Given the description of an element on the screen output the (x, y) to click on. 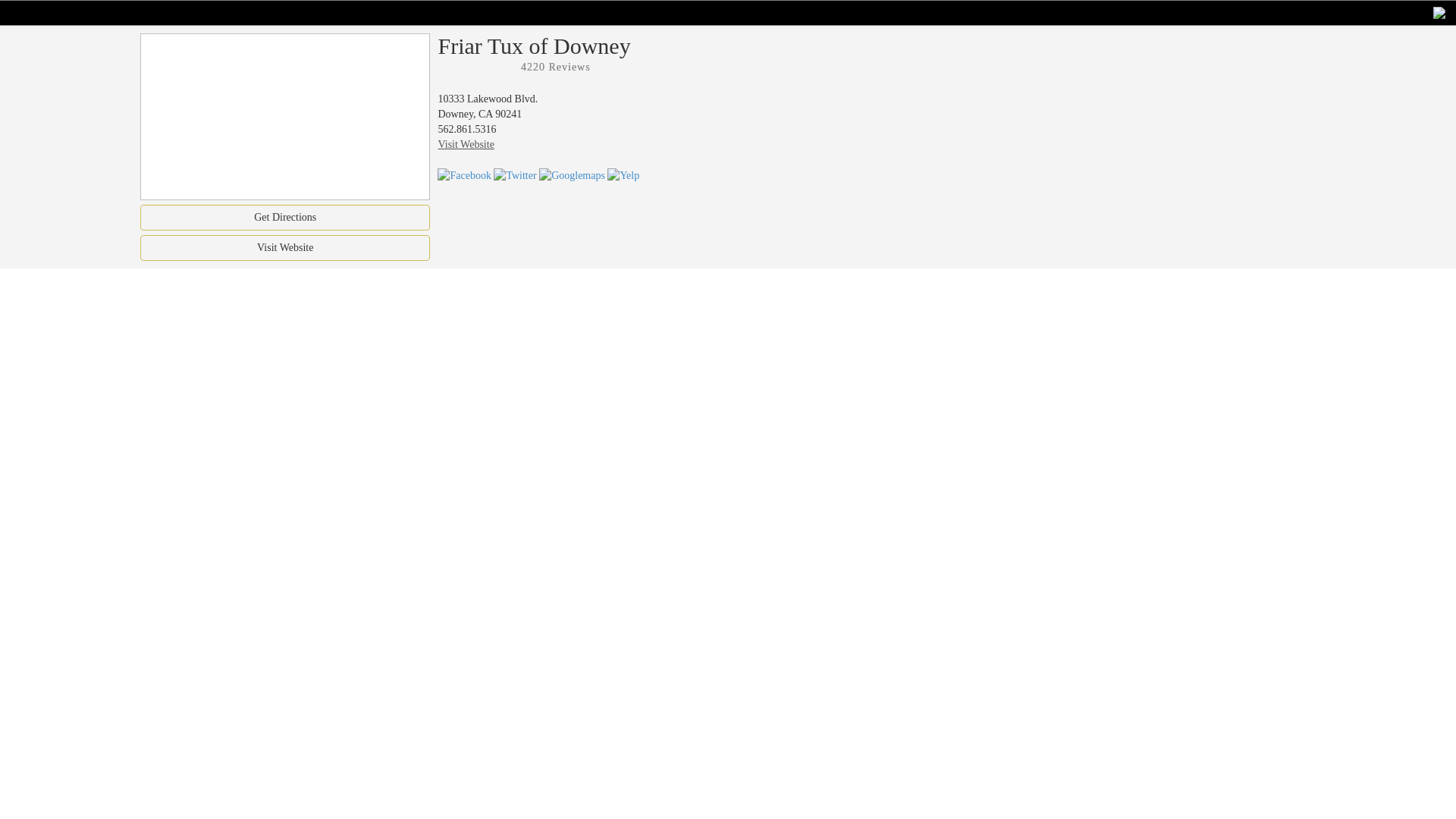
Get Directions (284, 217)
Visit Website (465, 143)
Visit Website (284, 248)
